Given the description of an element on the screen output the (x, y) to click on. 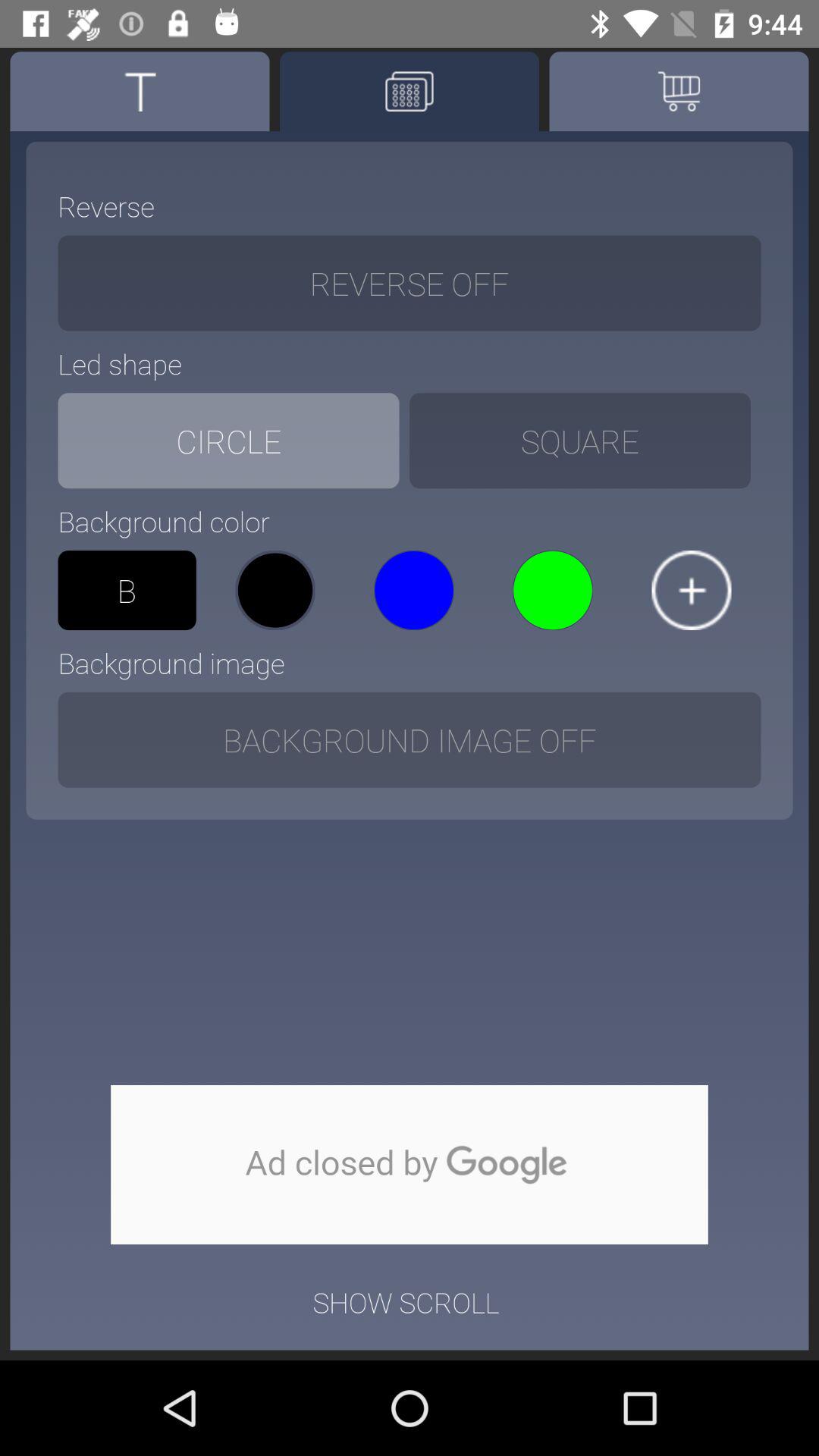
add new color (691, 590)
